Given the description of an element on the screen output the (x, y) to click on. 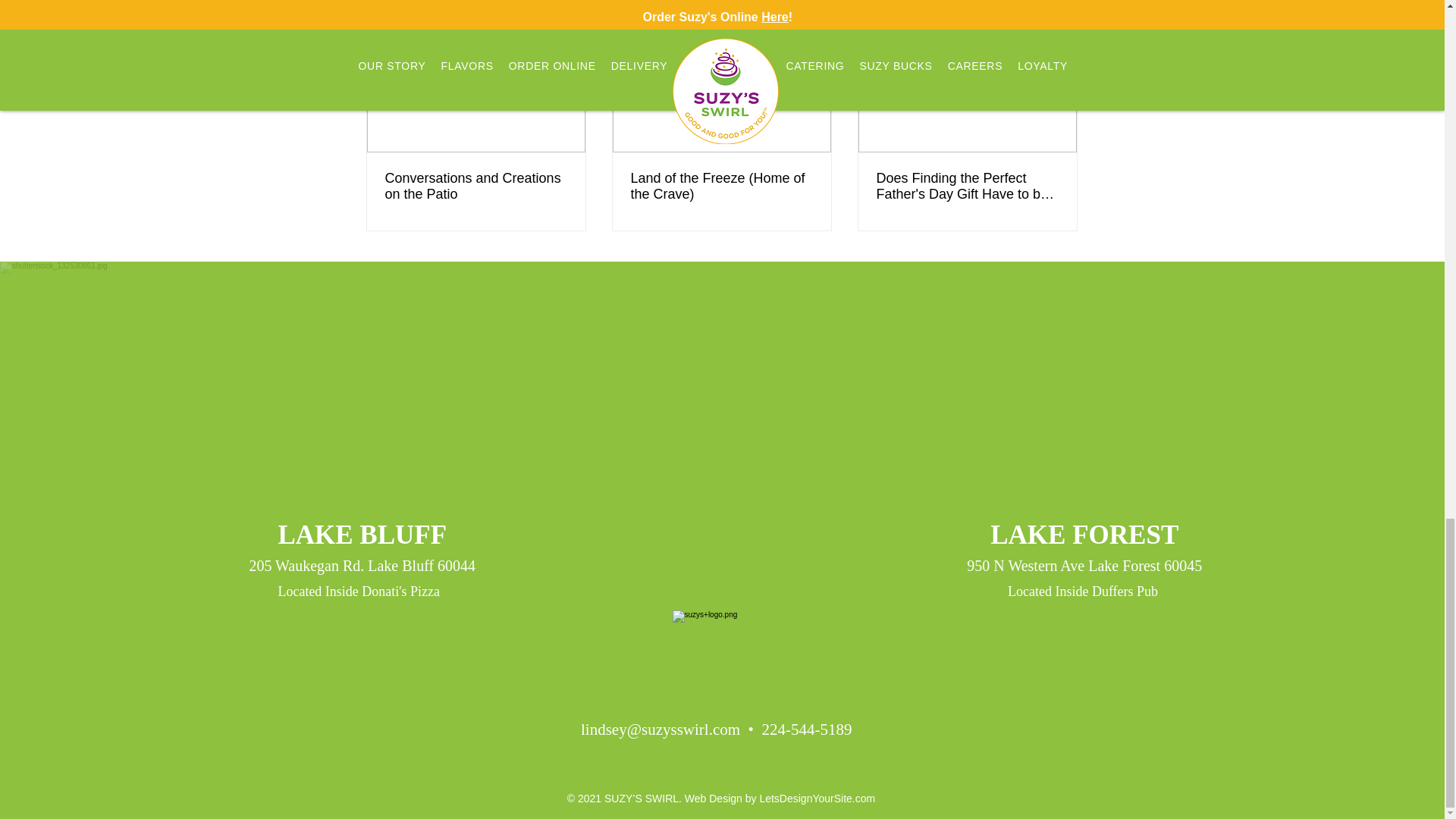
See All (1061, 6)
Conversations and Creations on the Patio (476, 186)
